Given the description of an element on the screen output the (x, y) to click on. 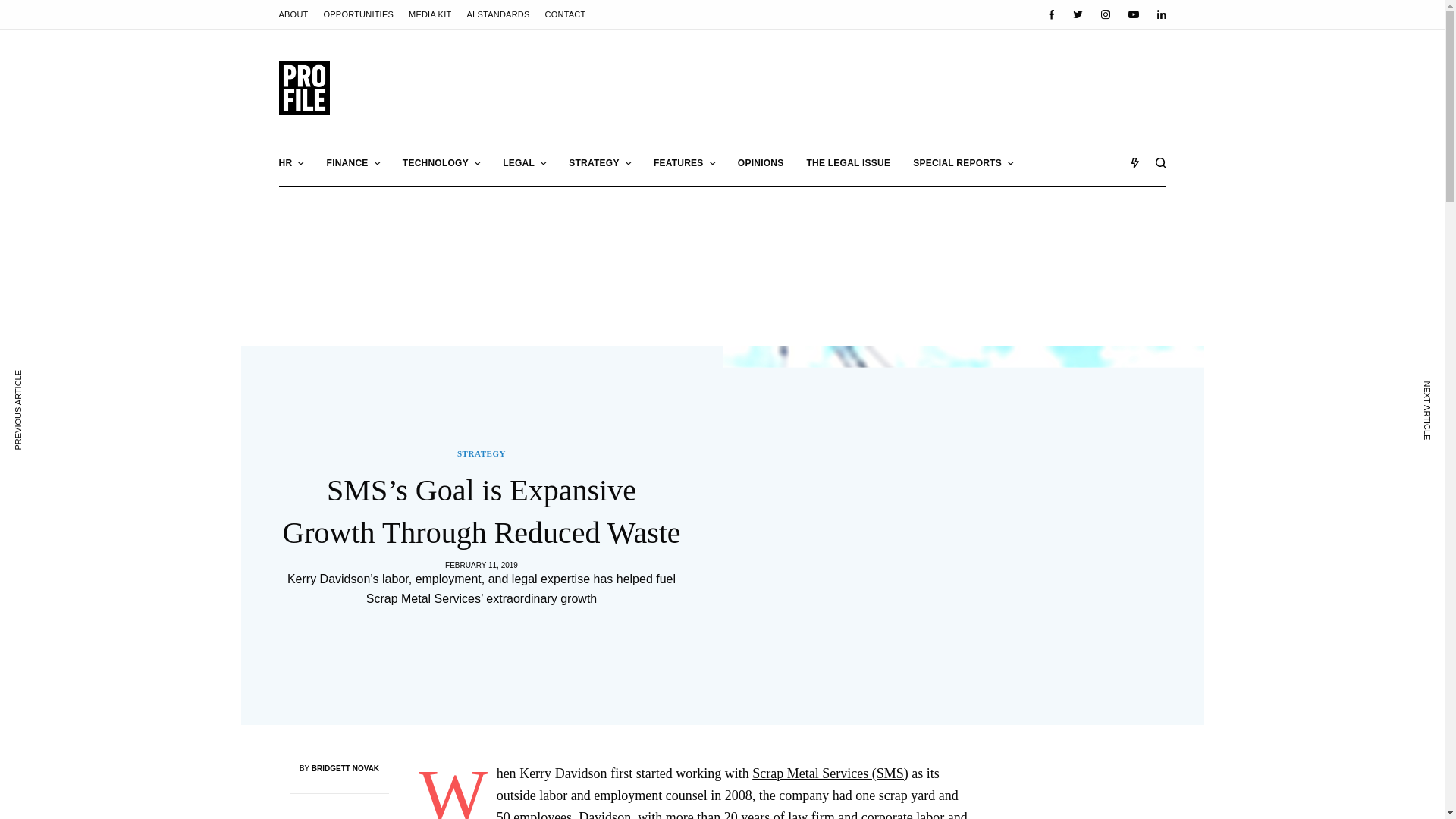
FINANCE (353, 162)
AI STANDARDS (497, 14)
OPPORTUNITIES (358, 14)
ABOUT (293, 14)
MEDIA KIT (430, 14)
FEATURES (683, 162)
CONTACT (565, 14)
TECHNOLOGY (441, 162)
STRATEGY (599, 162)
Profile (304, 87)
